Given the description of an element on the screen output the (x, y) to click on. 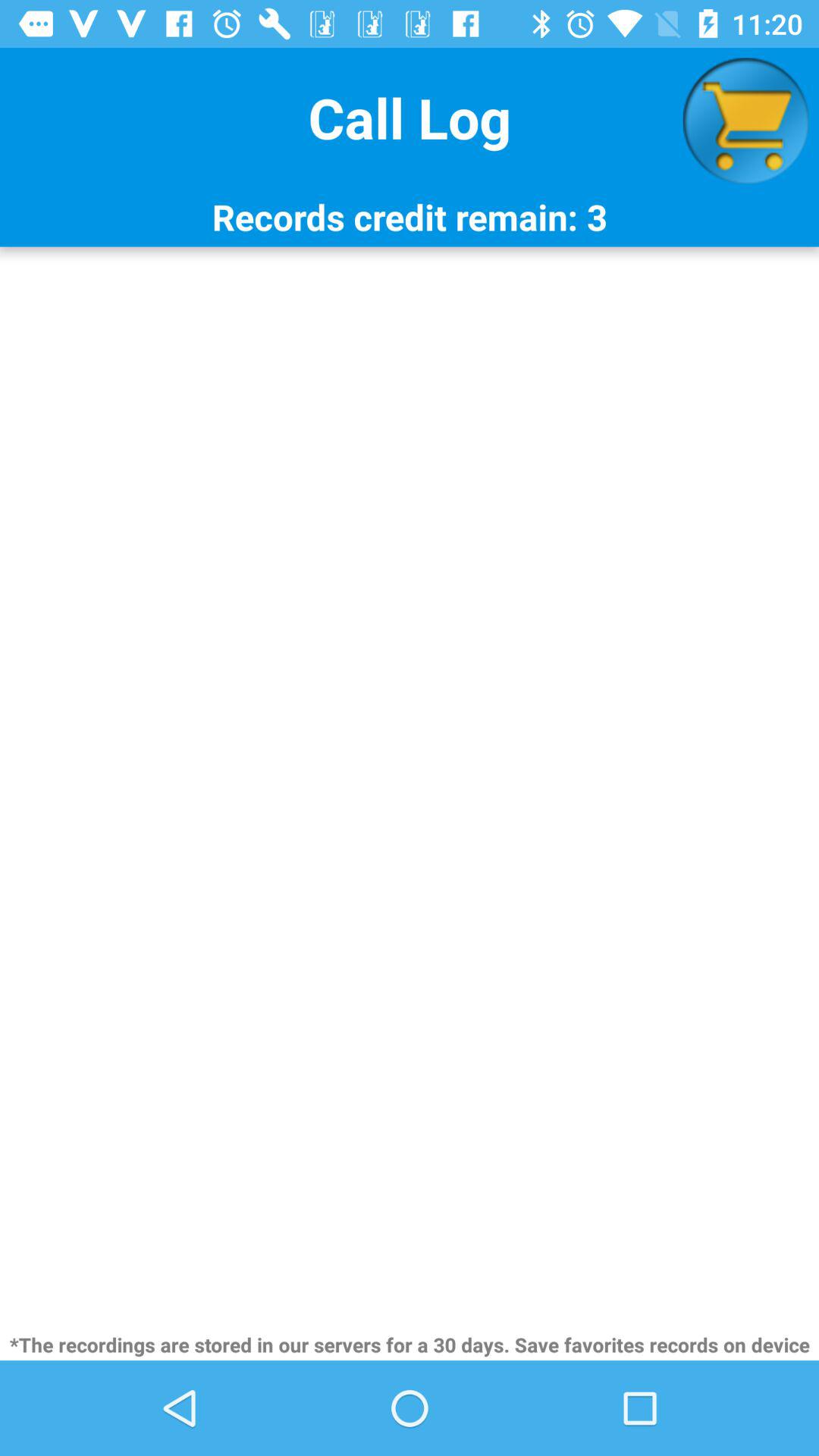
launch icon at the top right corner (745, 120)
